Given the description of an element on the screen output the (x, y) to click on. 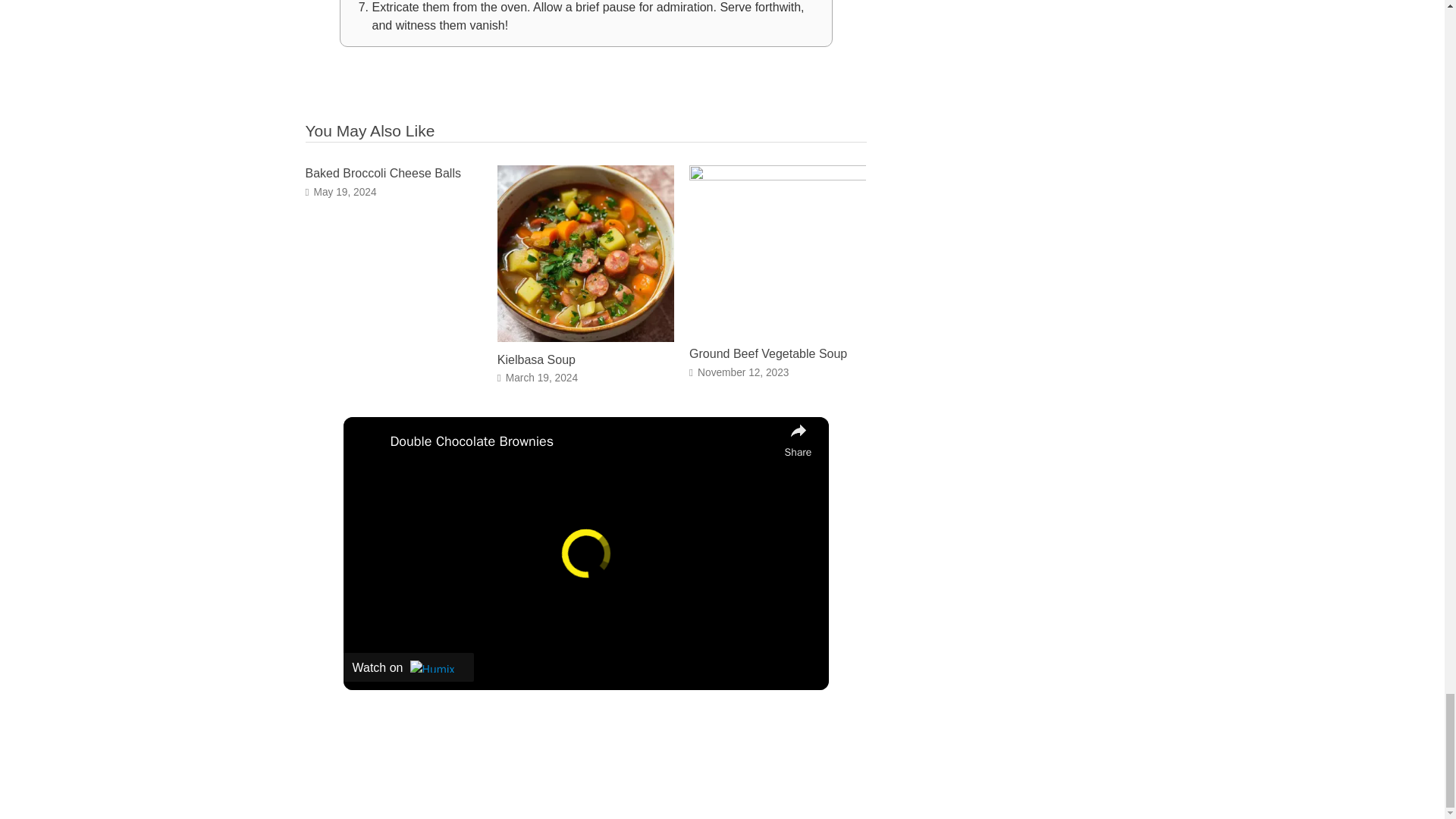
Baked Broccoli Cheese Balls (382, 173)
Kielbasa Soup (536, 359)
Watch on (407, 666)
Kielbasa Soup (536, 359)
Ground Beef Vegetable Soup (767, 353)
Ground Beef Vegetable Soup (767, 353)
Kielbasa Soup (585, 337)
Baked Broccoli Cheese Balls (382, 173)
Double Chocolate Brownies (583, 441)
Ground Beef Vegetable Soup (777, 175)
